Given the description of an element on the screen output the (x, y) to click on. 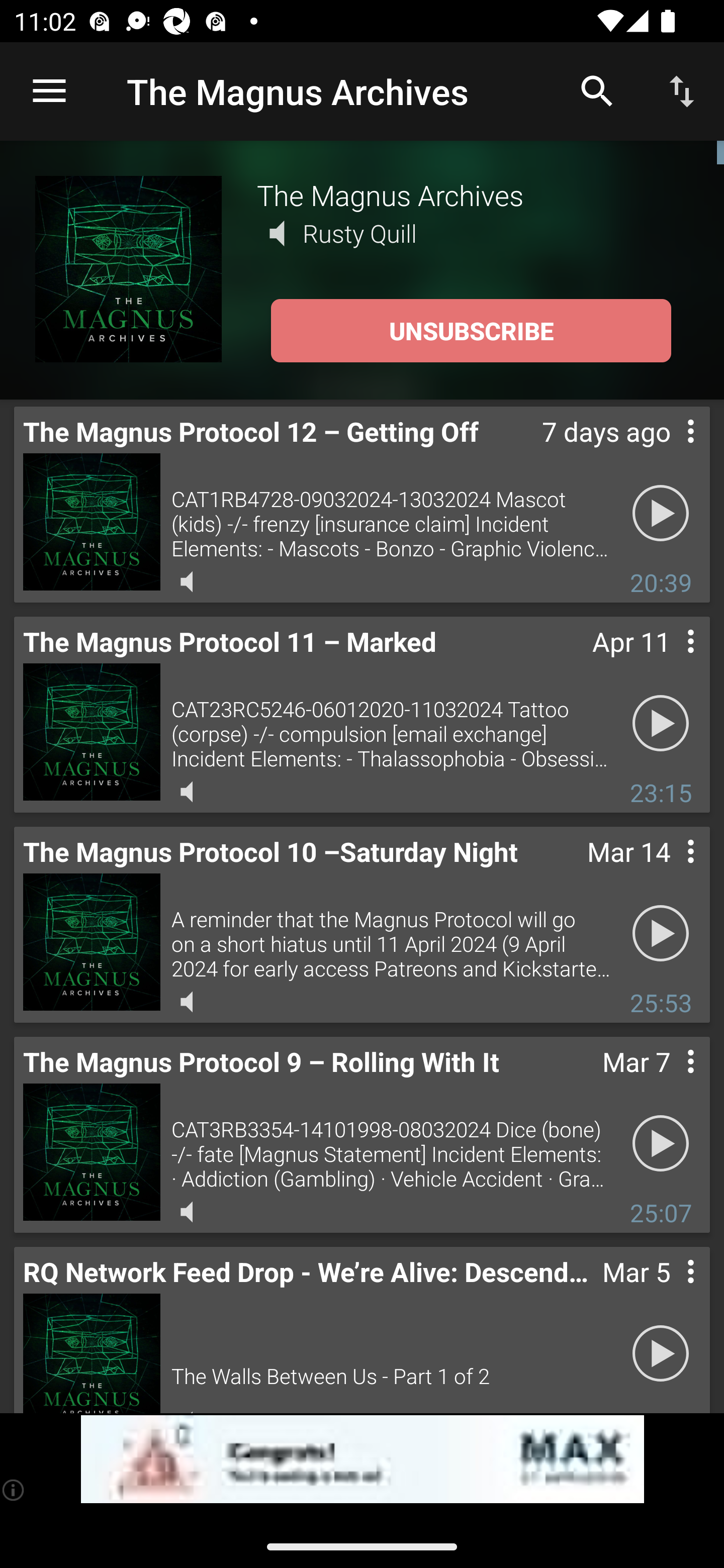
Open navigation sidebar (49, 91)
Search (597, 90)
Sort (681, 90)
UNSUBSCRIBE (470, 330)
Contextual menu (668, 451)
Play (660, 513)
Contextual menu (668, 661)
Play (660, 723)
Contextual menu (668, 870)
Play (660, 933)
Contextual menu (668, 1080)
Play (660, 1143)
Contextual menu (668, 1290)
Play (660, 1353)
app-monetization (362, 1459)
(i) (14, 1489)
